Given the description of an element on the screen output the (x, y) to click on. 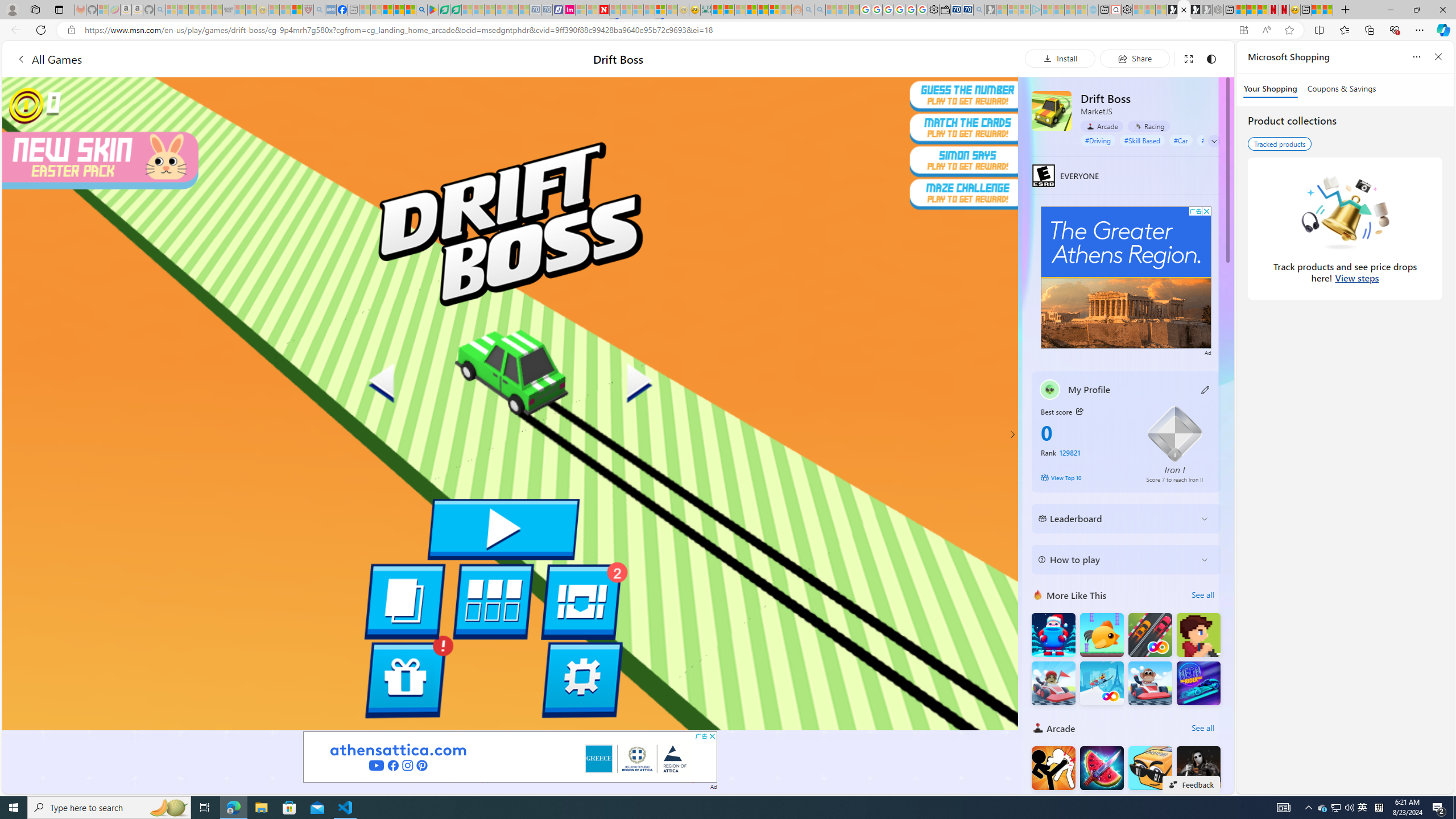
Share (1134, 58)
Feedback (1190, 784)
14 Common Myths Debunked By Scientific Facts - Sleeping (626, 9)
Cheap Car Rentals - Save70.com (967, 9)
Back (13, 29)
Arcade (1101, 125)
Favorites (1344, 29)
See all (1202, 728)
New Tab (1346, 9)
Copilot (Ctrl+Shift+.) (1442, 29)
